Given the description of an element on the screen output the (x, y) to click on. 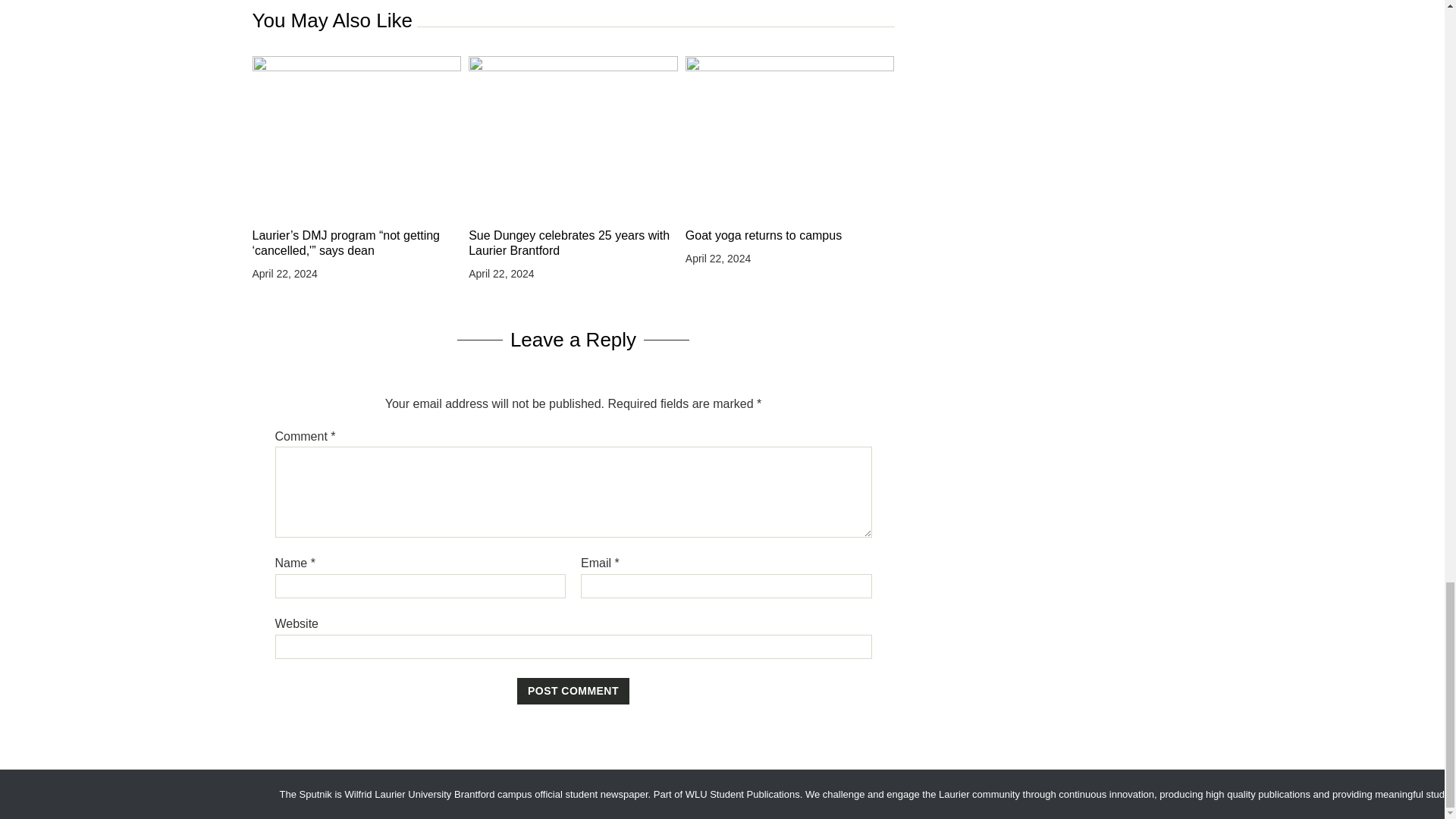
Sue Dungey celebrates 25 years with Laurier Brantford (573, 243)
Post Comment (572, 691)
Goat yoga returns to campus (790, 235)
Post Comment (572, 691)
